Given the description of an element on the screen output the (x, y) to click on. 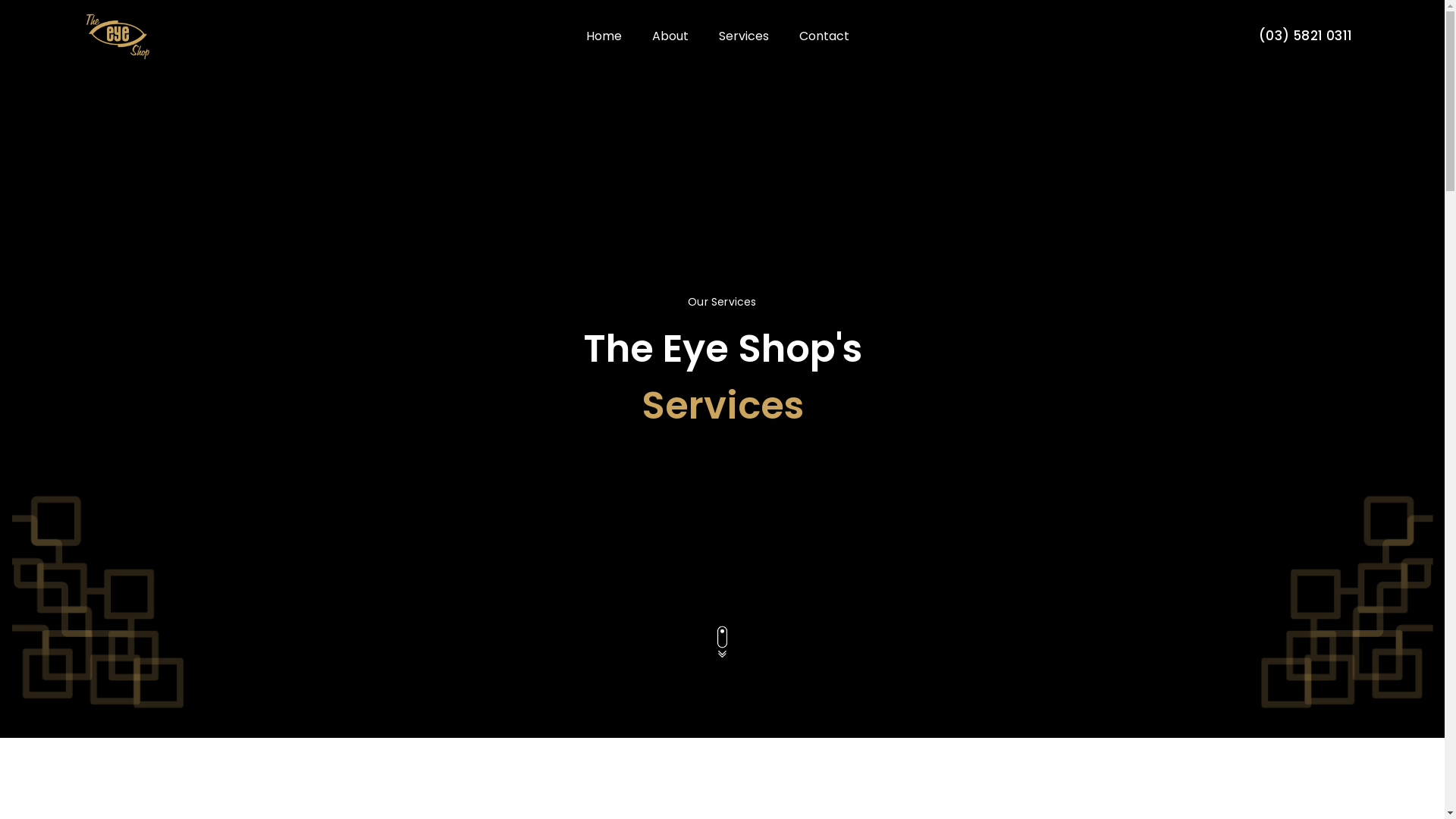
About Element type: text (670, 36)
Contact Element type: text (824, 36)
Home Element type: text (603, 36)
Services Element type: text (743, 36)
(03) 5821 0311 Element type: text (1305, 35)
